Given the description of an element on the screen output the (x, y) to click on. 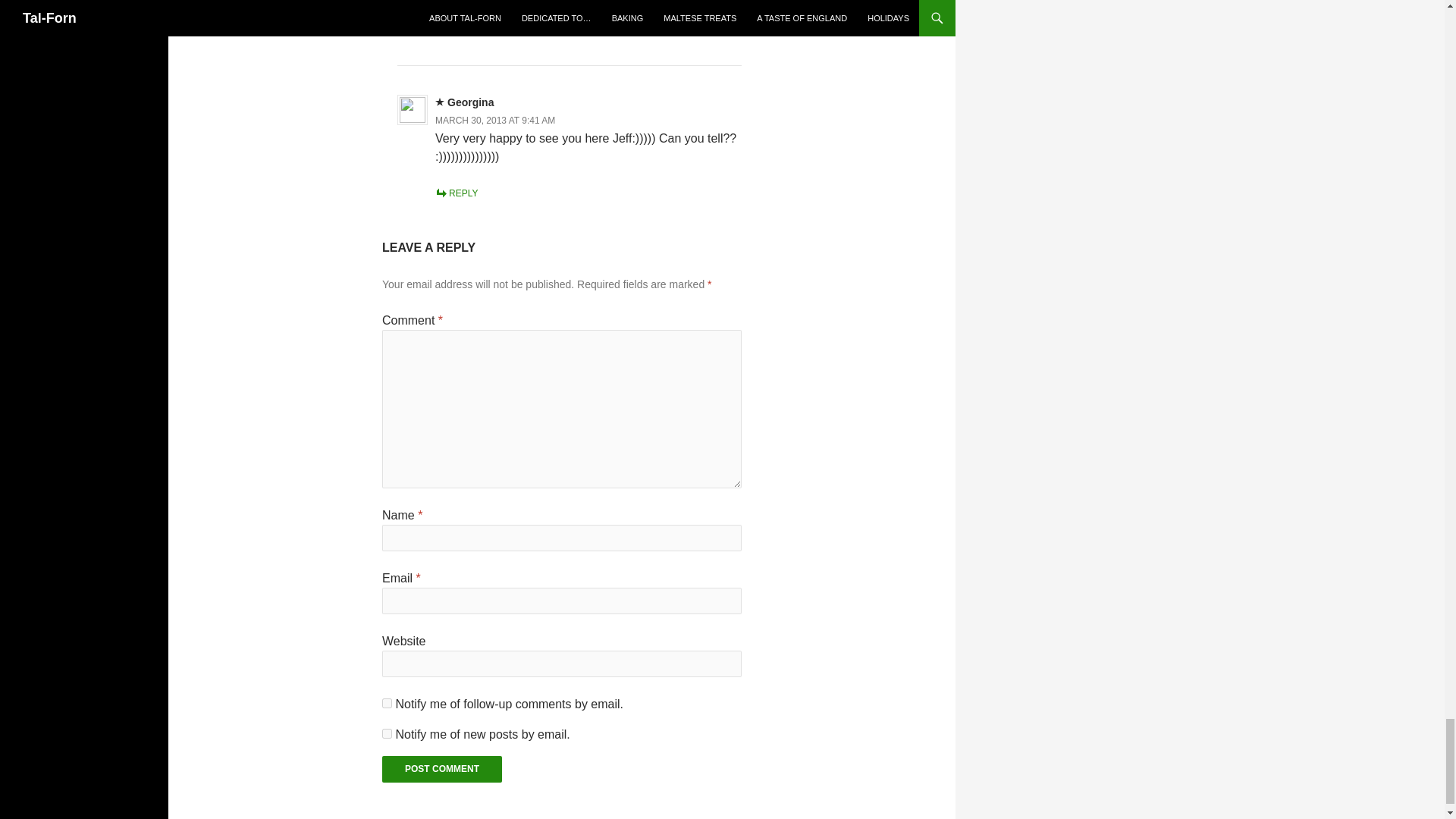
subscribe (386, 703)
Post Comment (441, 768)
subscribe (386, 733)
